Given the description of an element on the screen output the (x, y) to click on. 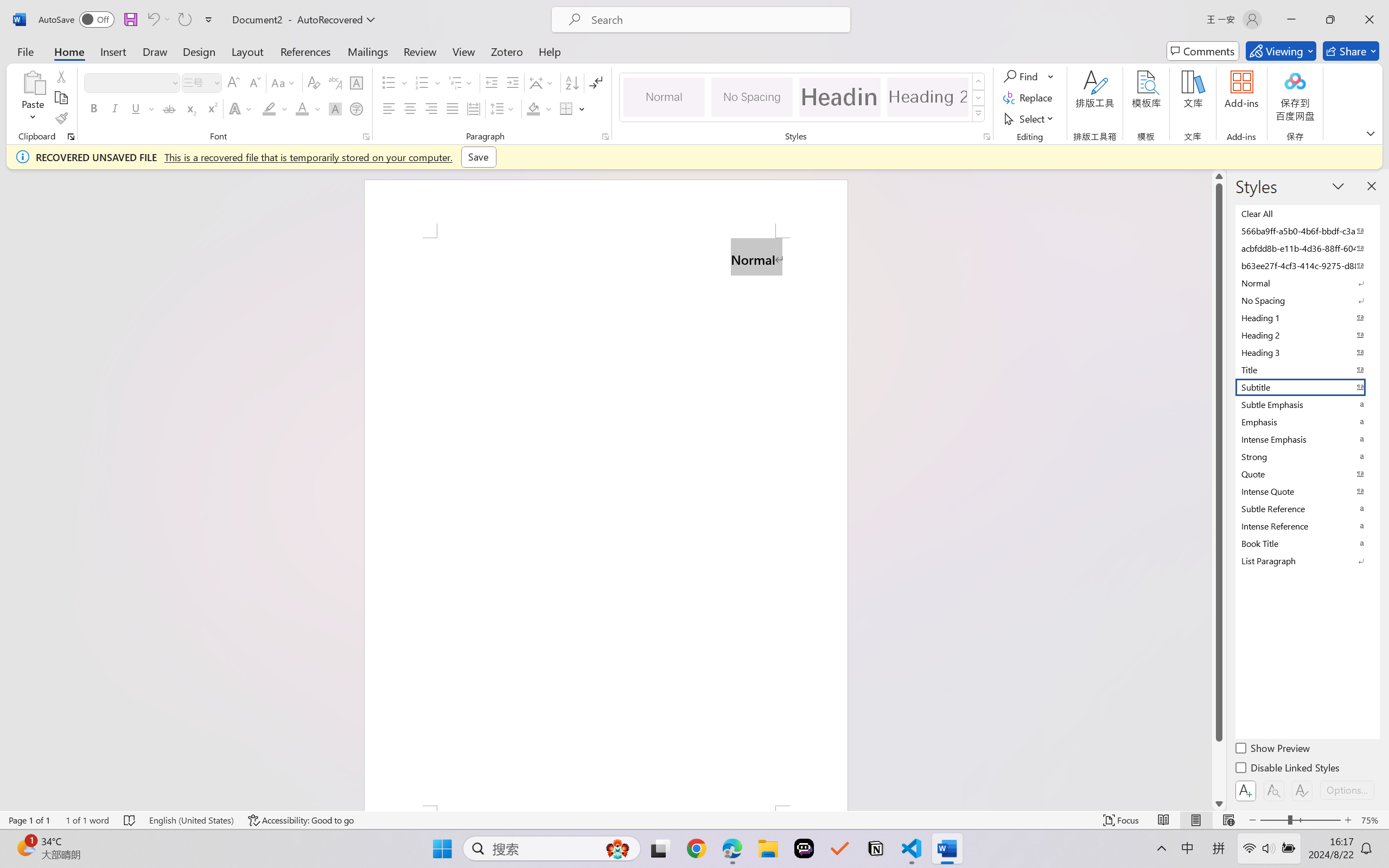
Text Highlight Color (274, 108)
Book Title (1306, 543)
Paragraph... (605, 136)
Shrink Font (253, 82)
Options... (1346, 789)
Ribbon Display Options (1370, 132)
Grow Font (233, 82)
566ba9ff-a5b0-4b6f-bbdf-c3ab41993fc2 (1306, 230)
b63ee27f-4cf3-414c-9275-d88e3f90795e (1306, 265)
